Given the description of an element on the screen output the (x, y) to click on. 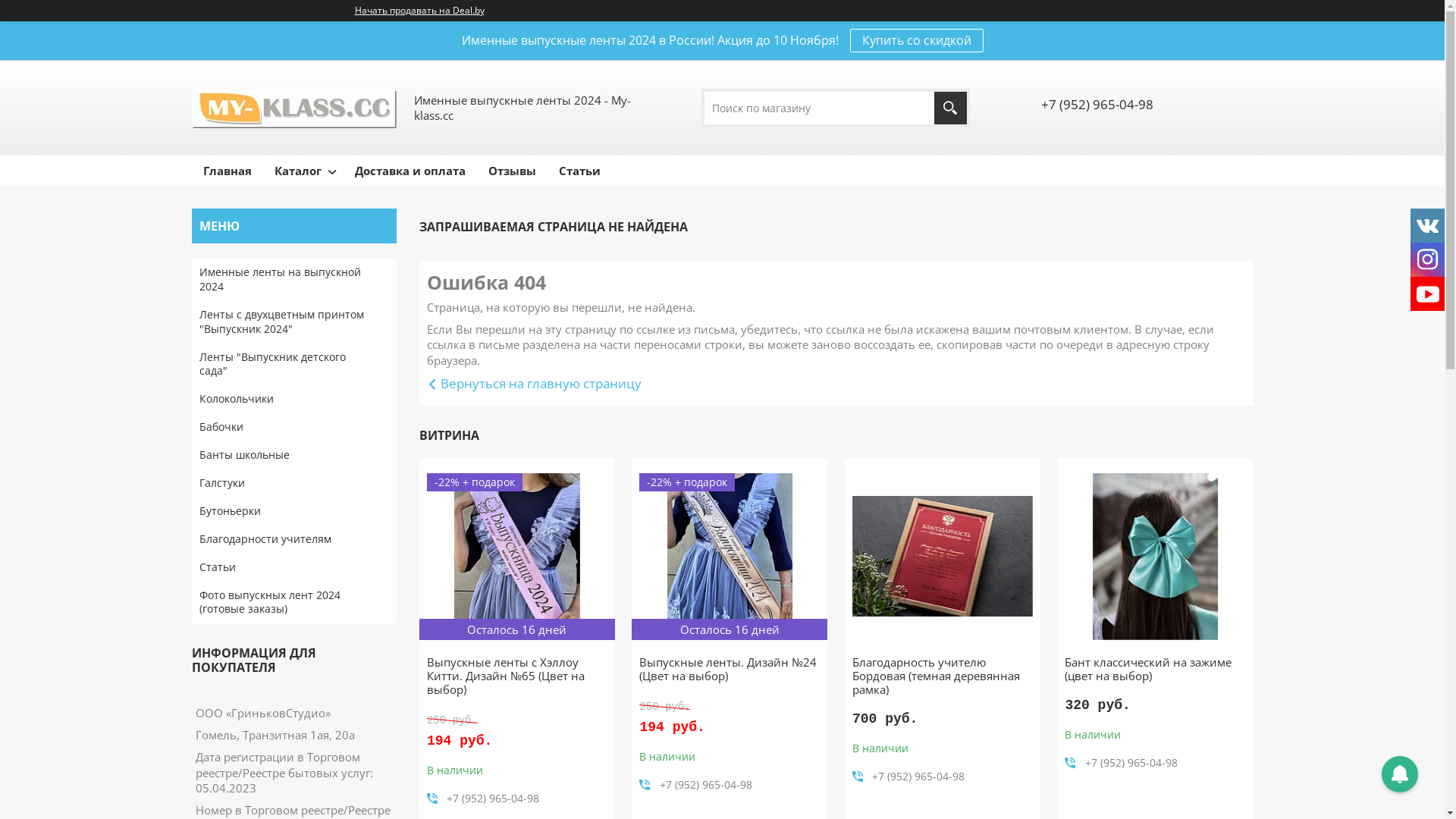
-22% Element type: text (729, 556)
-22% Element type: text (516, 556)
